Given the description of an element on the screen output the (x, y) to click on. 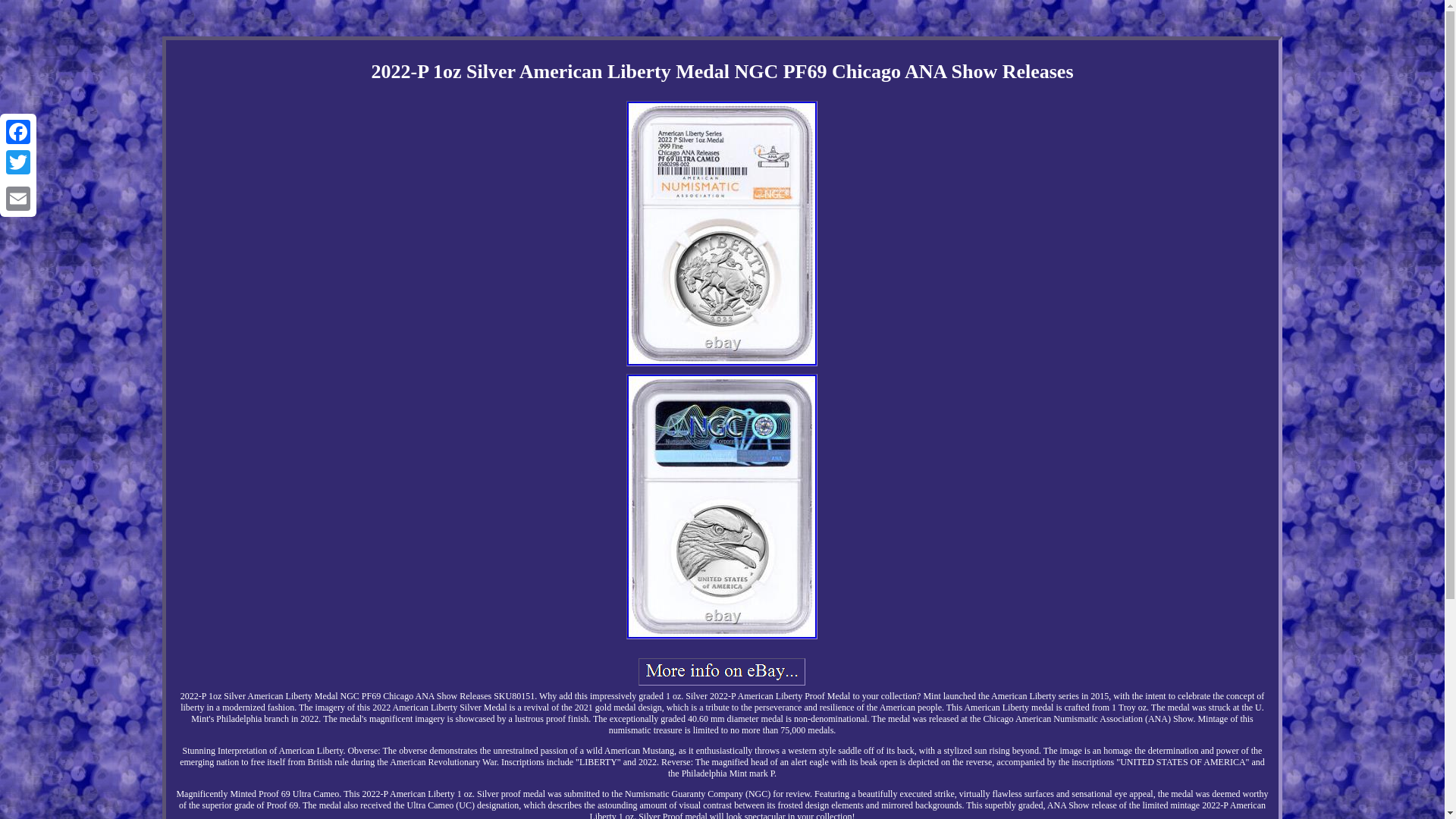
Facebook (17, 132)
Twitter (17, 162)
Email (17, 198)
